Given the description of an element on the screen output the (x, y) to click on. 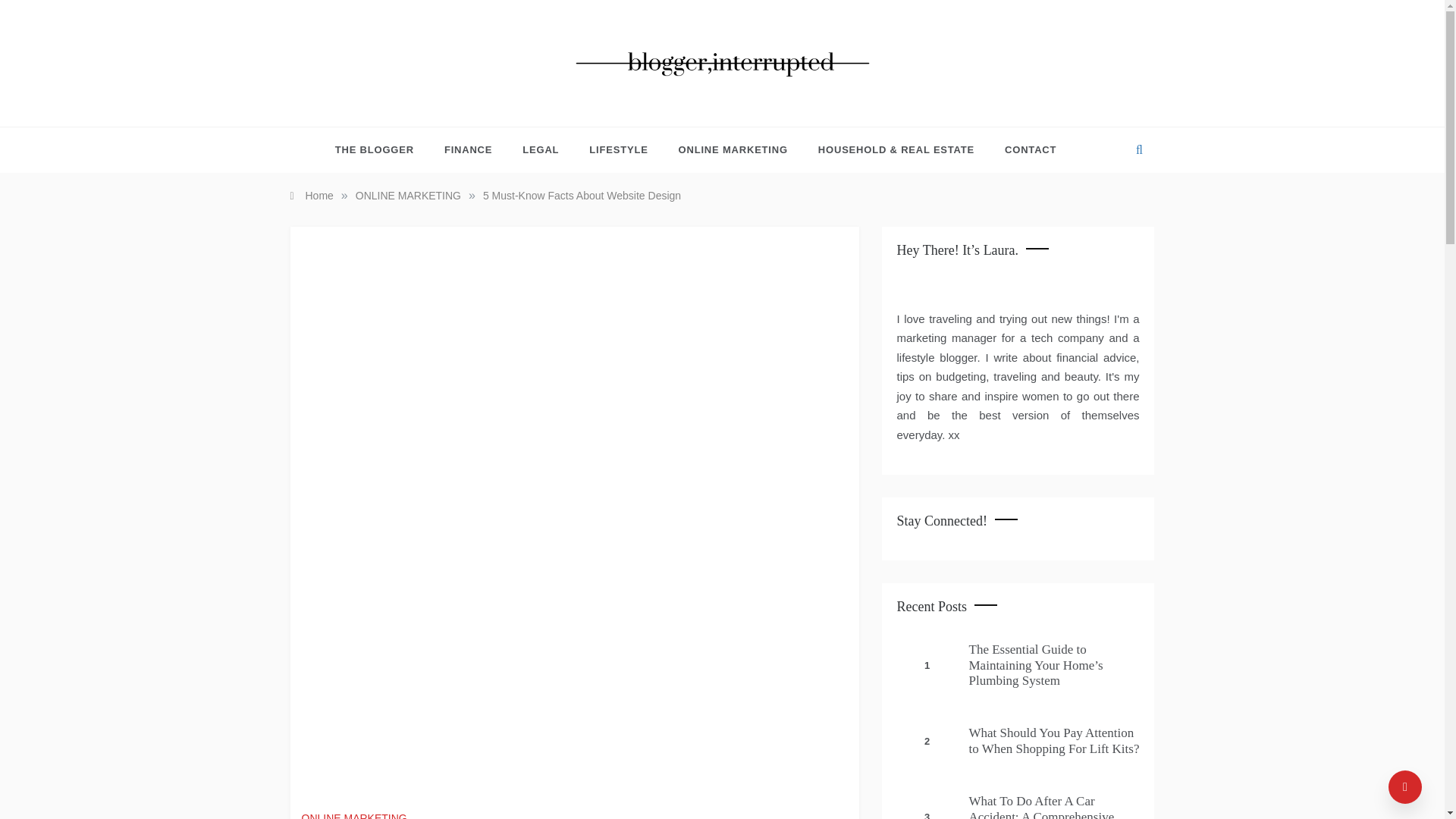
What To Do After A Car Accident: A Comprehensive Guide (1042, 806)
BLOGGER, INTERRUPTED (716, 102)
THE BLOGGER (381, 149)
Go to Top (1405, 786)
LIFESTYLE (617, 149)
Home (311, 195)
ONLINE MARKETING (733, 149)
FINANCE (467, 149)
LEGAL (539, 149)
